Given the description of an element on the screen output the (x, y) to click on. 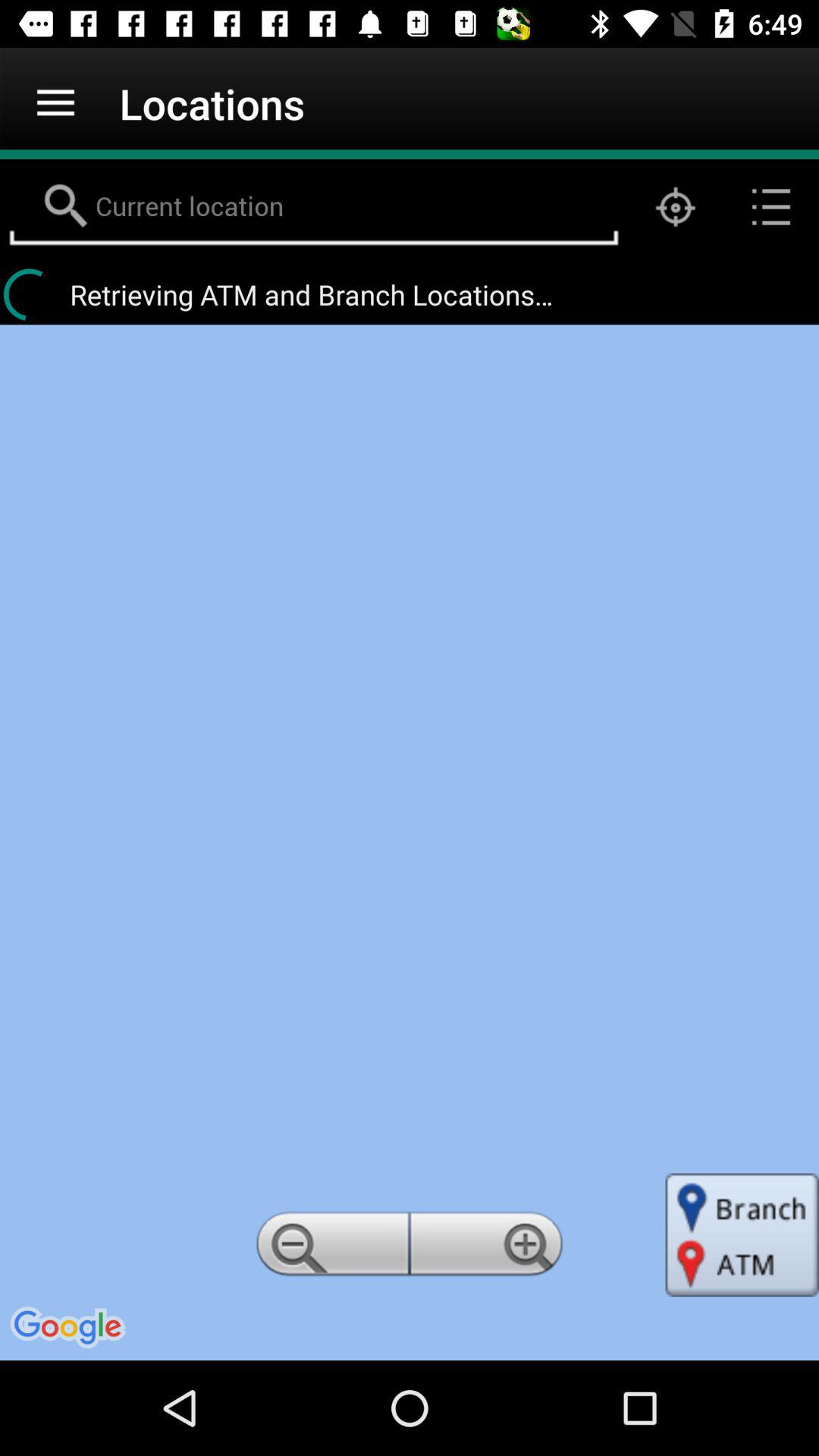
press the item next to the locations icon (55, 103)
